Given the description of an element on the screen output the (x, y) to click on. 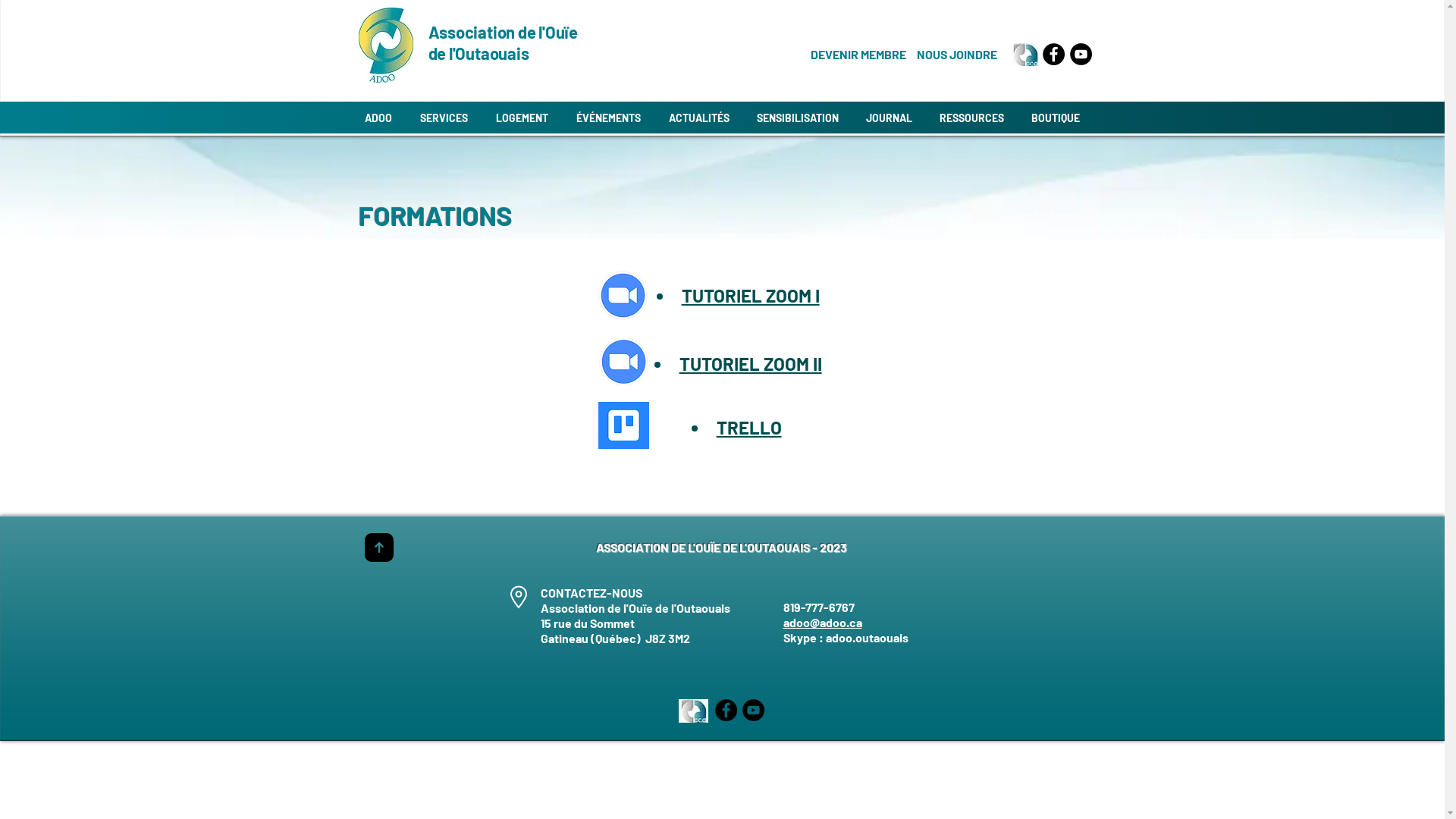
DEVENIR MEMBRE Element type: text (857, 54)
LOGEMENT Element type: text (522, 117)
SERVICES Element type: text (444, 117)
BOUTIQUE Element type: text (1055, 117)
adoo@adoo.ca Element type: text (821, 622)
SENSIBILISATION Element type: text (797, 117)
ADOO Element type: text (377, 117)
TUTORIEL ZOOM I Element type: text (750, 296)
RESSOURCES Element type: text (970, 117)
TRELLO Element type: text (748, 428)
NOUS JOINDRE Element type: text (956, 54)
JOURNAL Element type: text (888, 117)
TUTORIEL ZOOM II Element type: text (750, 364)
